Given the description of an element on the screen output the (x, y) to click on. 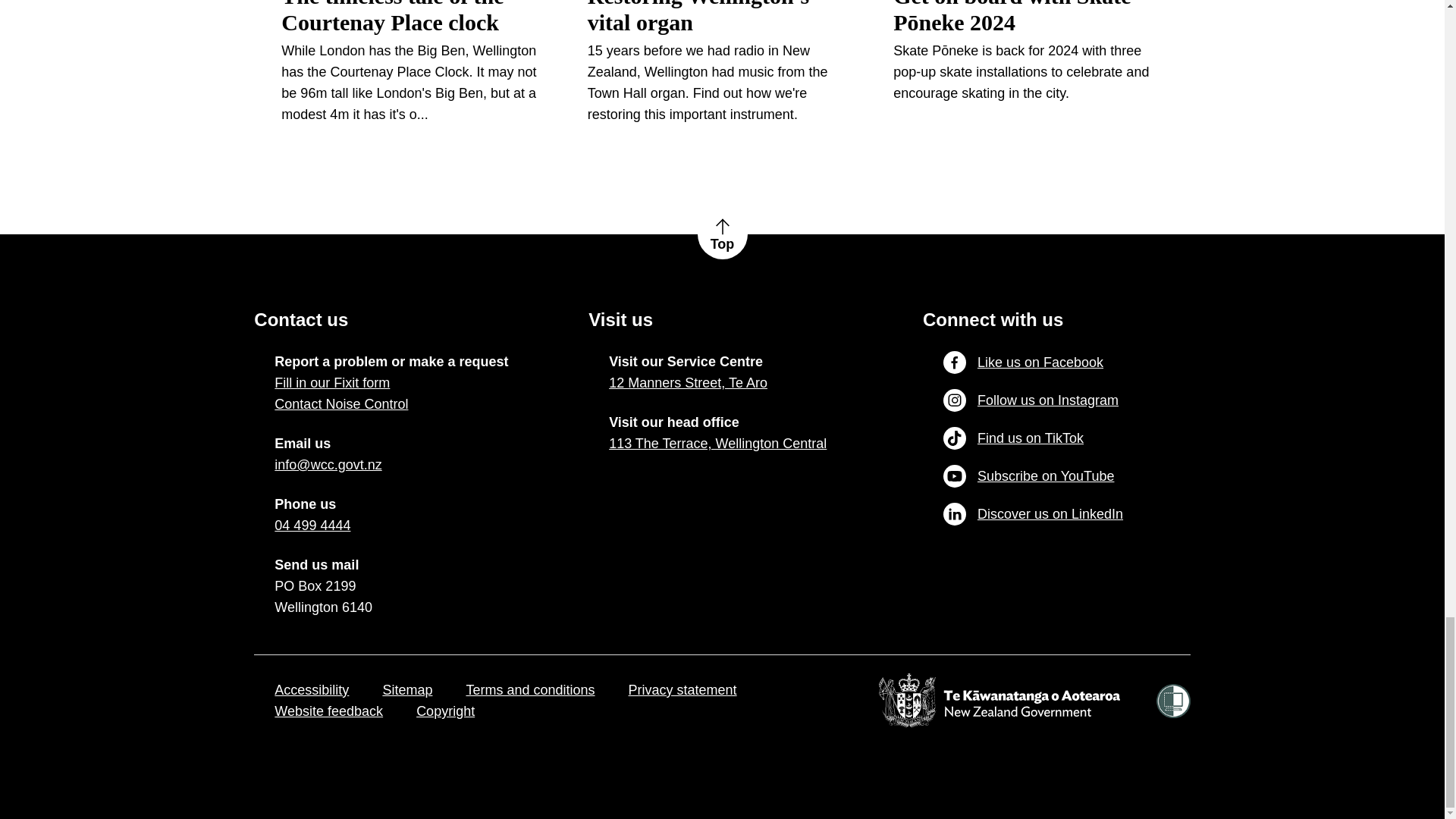
113 The Terrace, Wellington Central (717, 443)
Find us on TikTok (1013, 437)
Contact Noise Control (341, 403)
Privacy statement (682, 690)
Accessibility (312, 690)
Subscribe on YouTube (1028, 476)
Fill in our Fixit form (332, 382)
Link opens in a new window (687, 382)
Link opens in a new window (328, 464)
Discover us on LinkedIn (1032, 513)
Sitemap (406, 690)
Link opens in a new window (312, 525)
12 Manners Street, Te Aro (687, 382)
Like us on Facebook (1023, 362)
Top (722, 234)
